Given the description of an element on the screen output the (x, y) to click on. 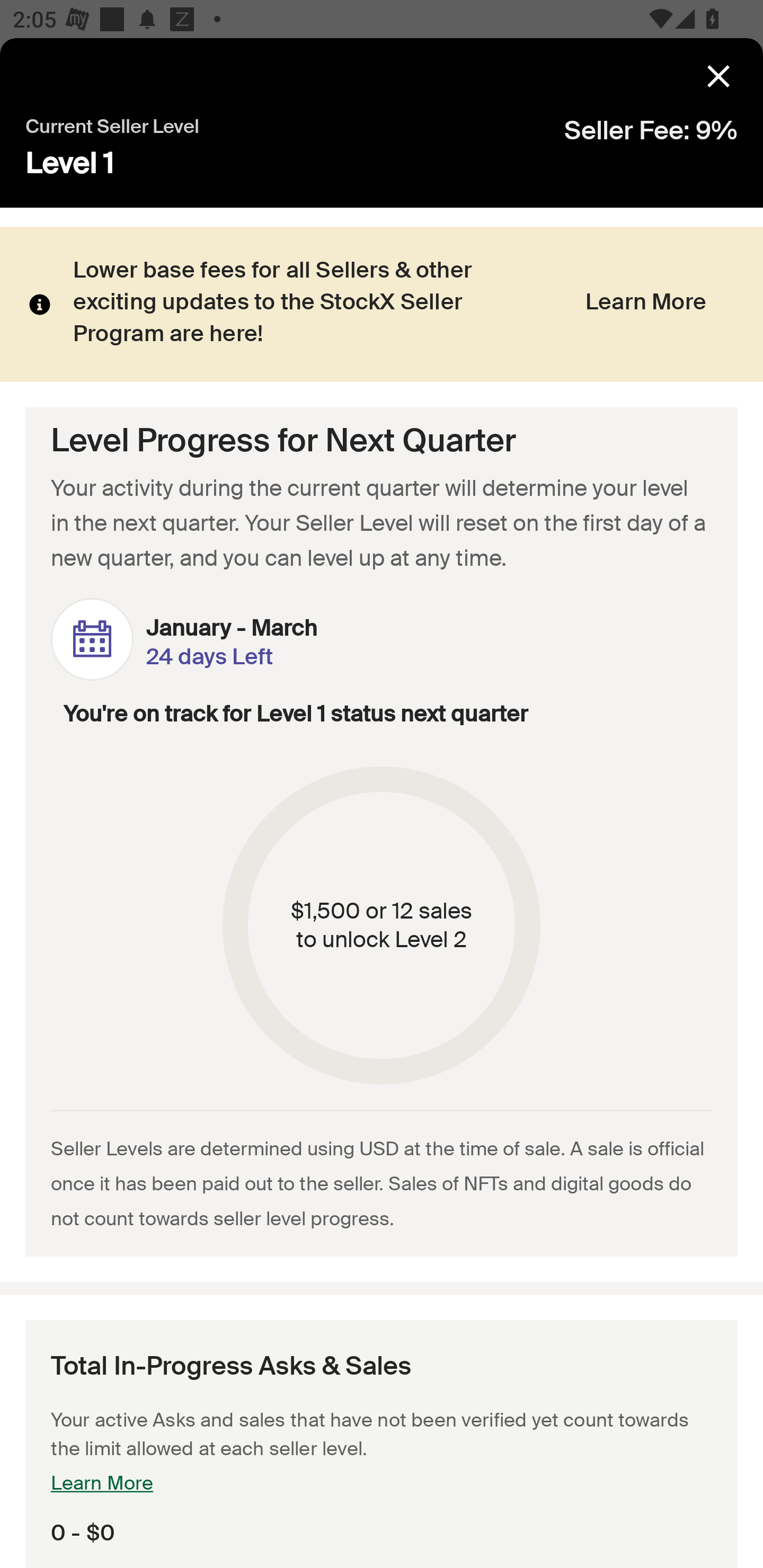
Learn More (645, 304)
Learn More (102, 1485)
